Given the description of an element on the screen output the (x, y) to click on. 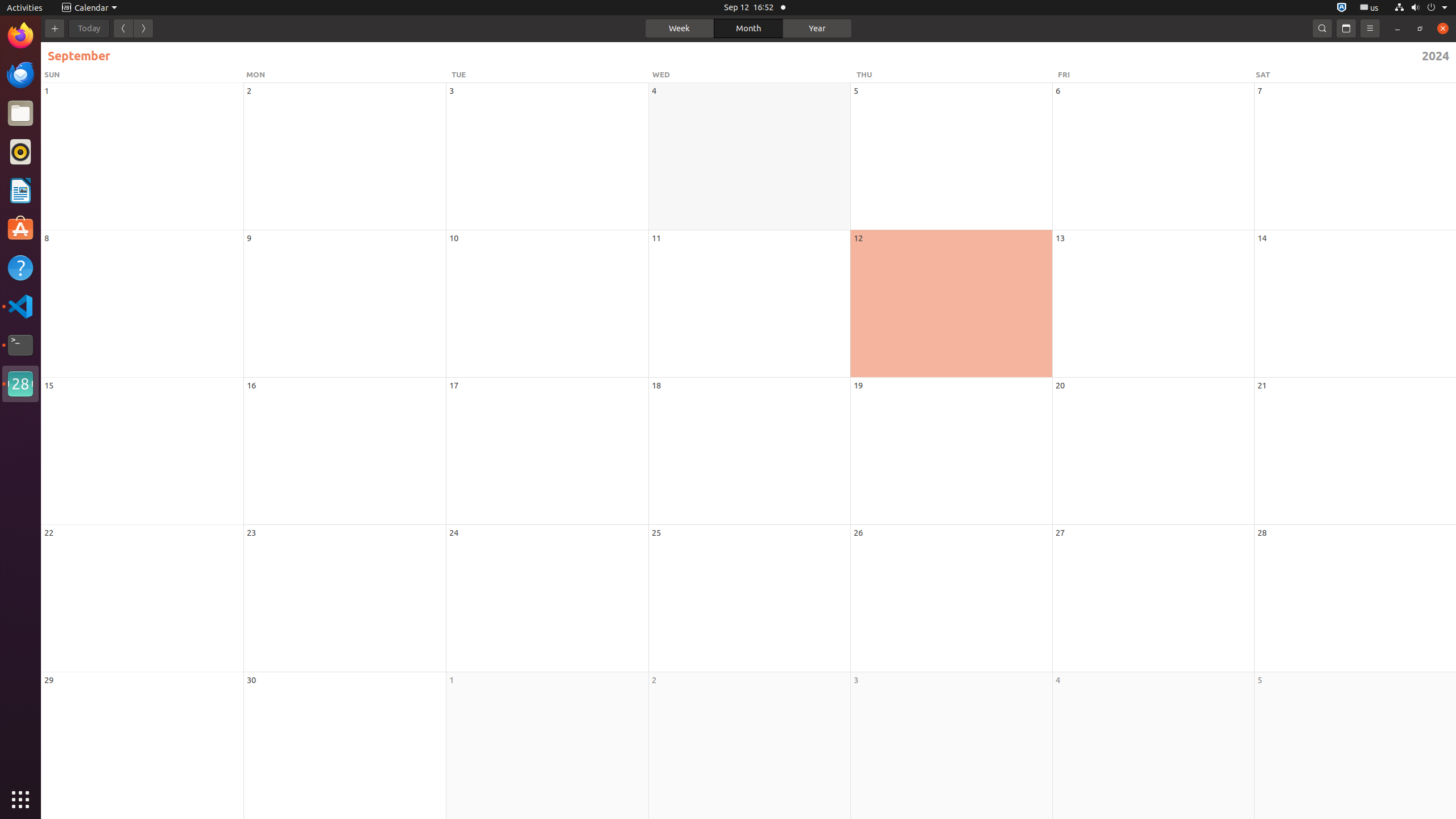
8 Element type: label (46, 237)
13 Element type: label (1059, 237)
SAT Element type: label (1353, 74)
21 Element type: label (1261, 385)
12 Element type: label (857, 237)
